Given the description of an element on the screen output the (x, y) to click on. 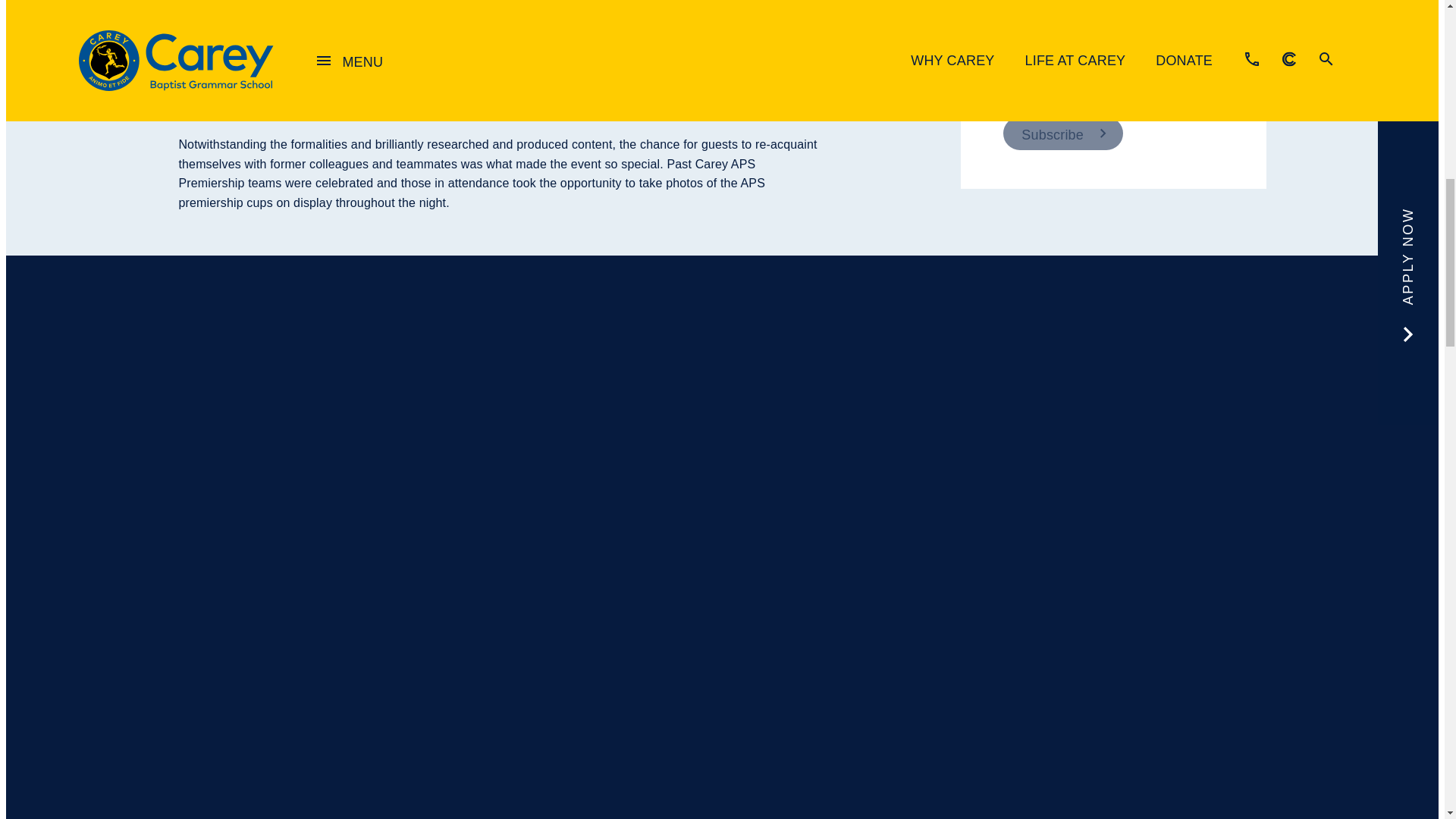
Subscribe (1062, 133)
